Given the description of an element on the screen output the (x, y) to click on. 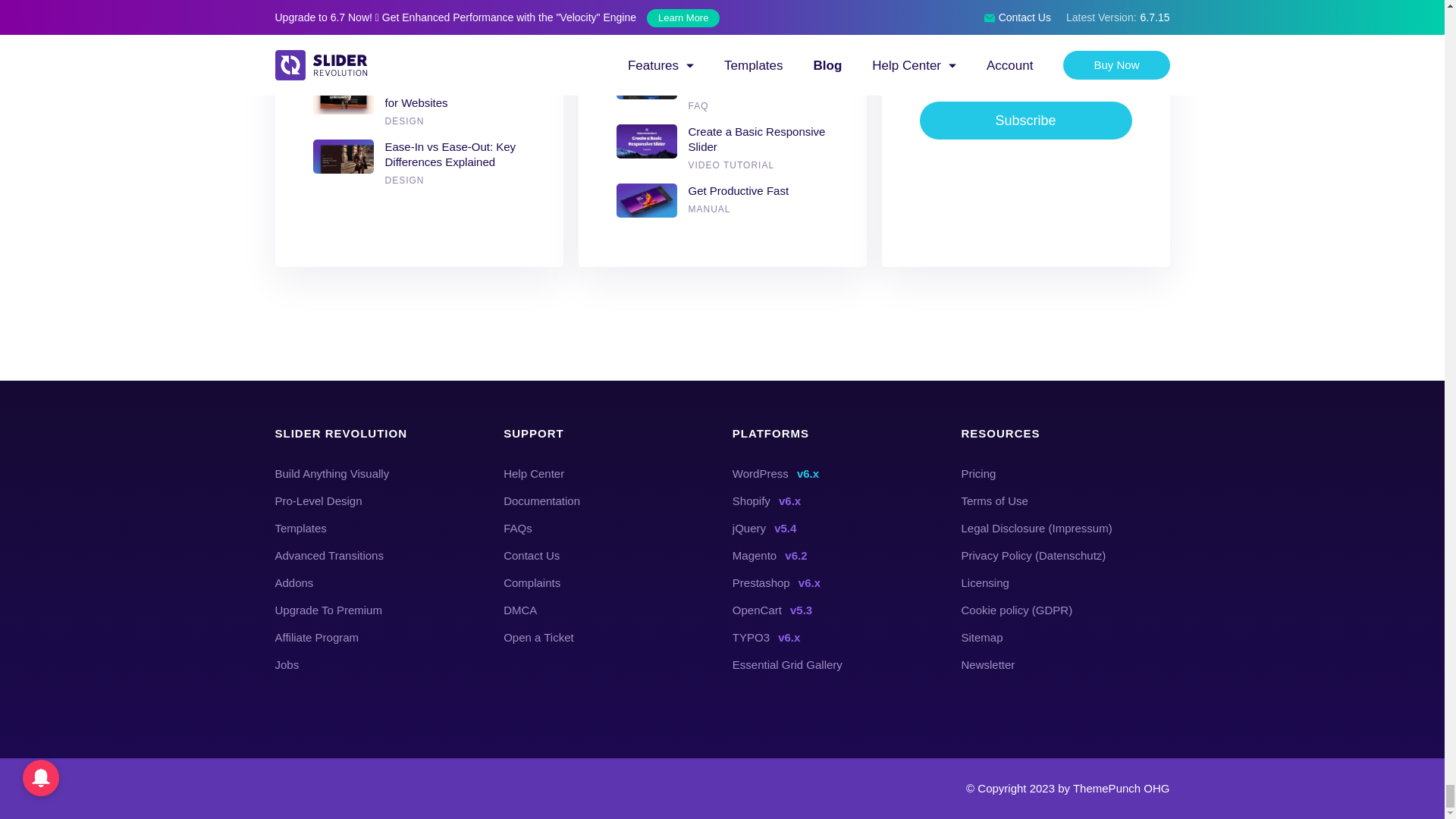
Subscribe (1024, 120)
